Given the description of an element on the screen output the (x, y) to click on. 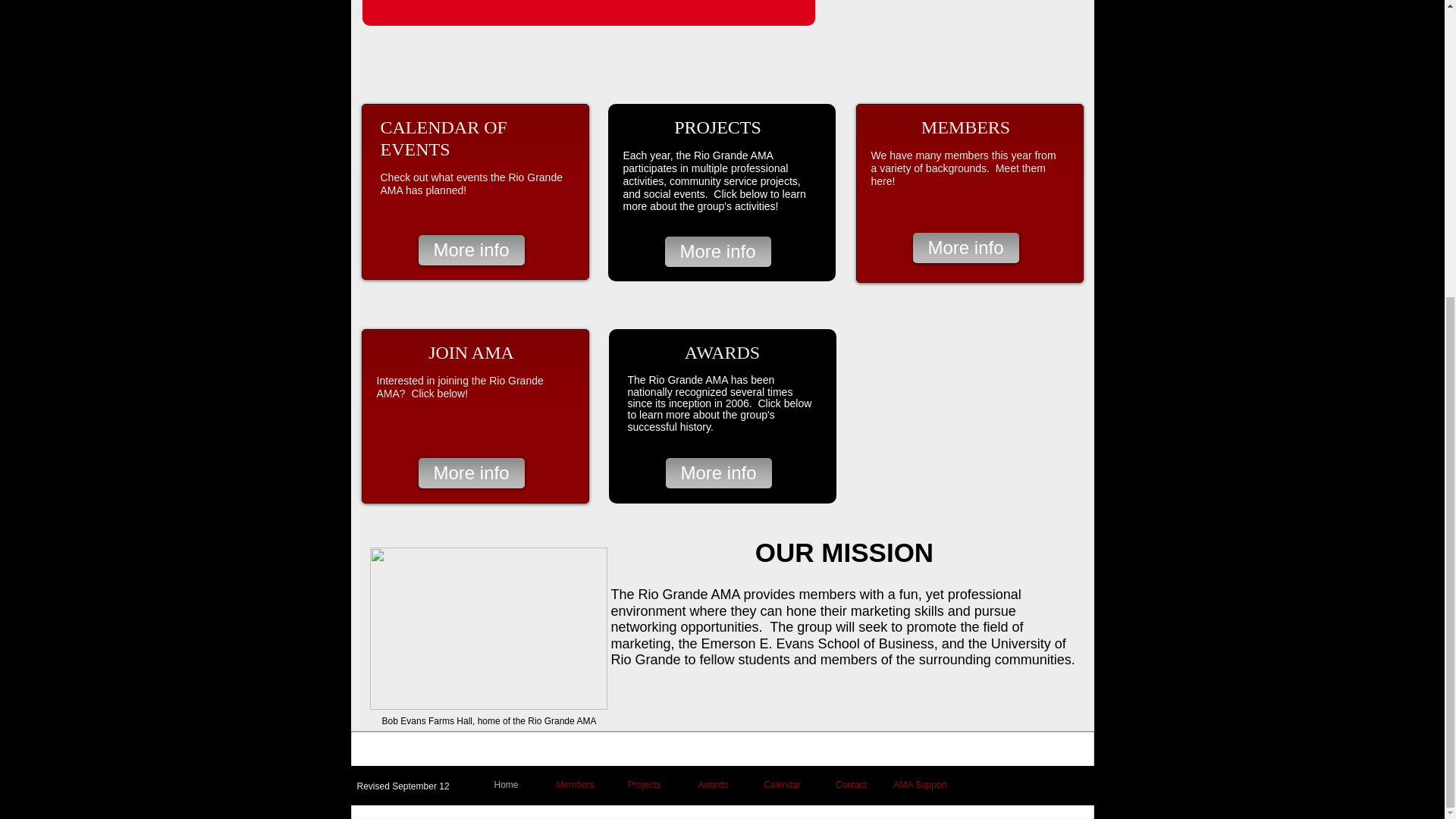
Calendar (782, 784)
More info (471, 250)
Contact (850, 784)
Home (505, 784)
Awards (713, 784)
Projects (644, 784)
Members (575, 784)
More info (471, 472)
More info (716, 251)
Rio.jpg (488, 628)
AMA Support (920, 784)
More info (718, 472)
More info (965, 247)
